Given the description of an element on the screen output the (x, y) to click on. 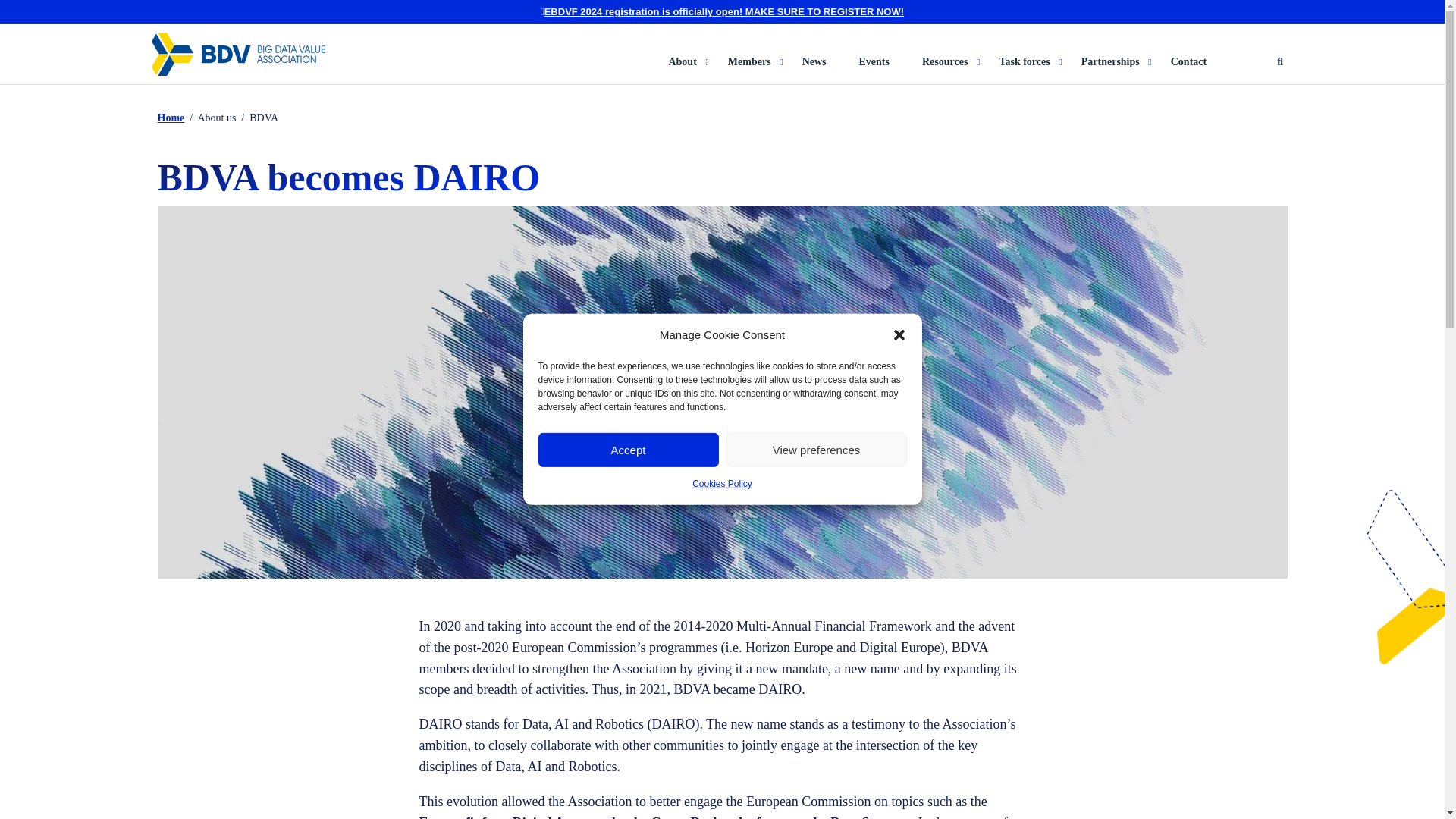
Members (756, 69)
View preferences (816, 449)
Resources (951, 69)
About (689, 69)
Accept (628, 449)
Cookies Policy (722, 484)
Events (874, 69)
